Given the description of an element on the screen output the (x, y) to click on. 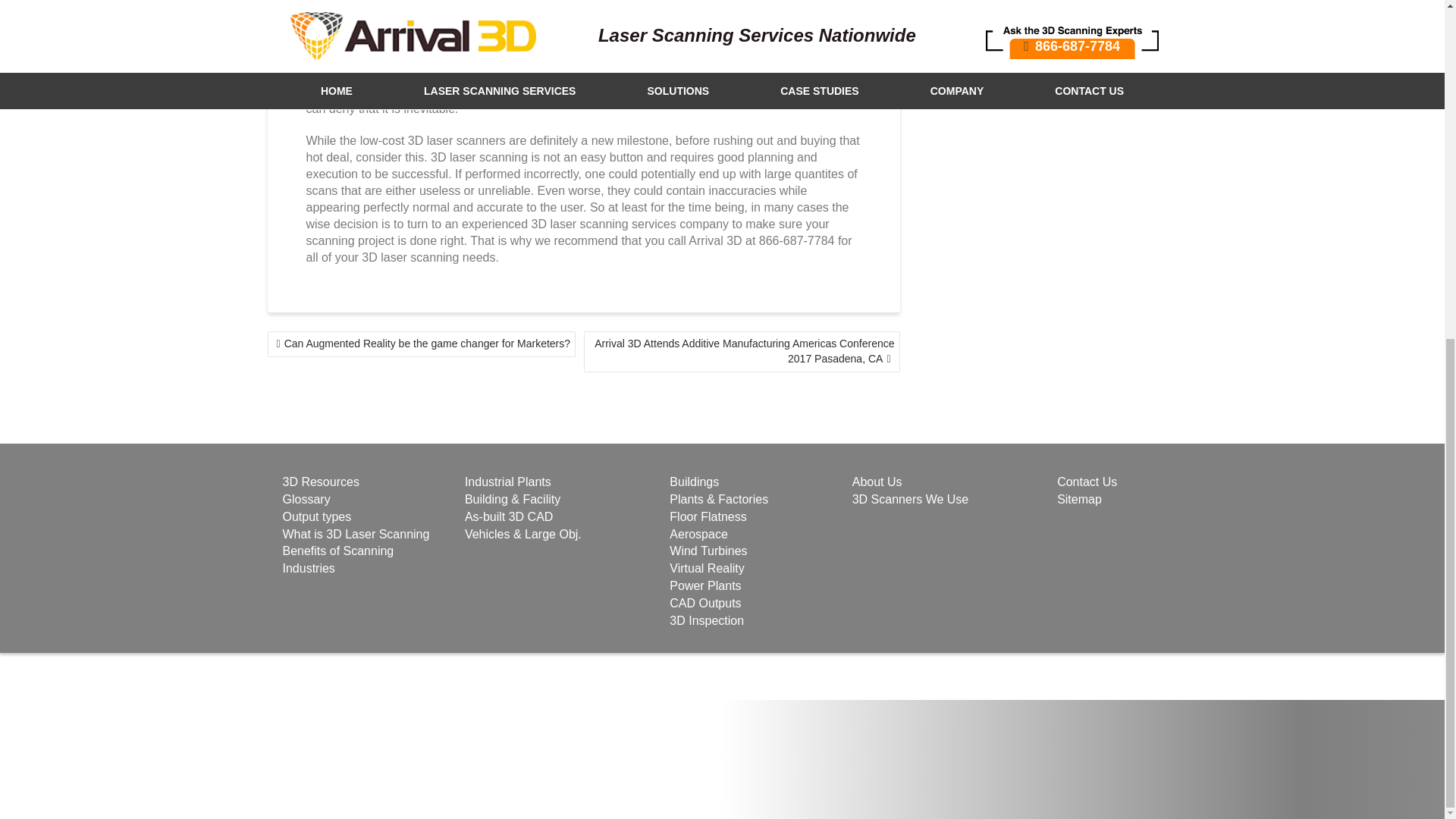
Can Augmented Reality be the game changer for Marketers? (420, 344)
